Given the description of an element on the screen output the (x, y) to click on. 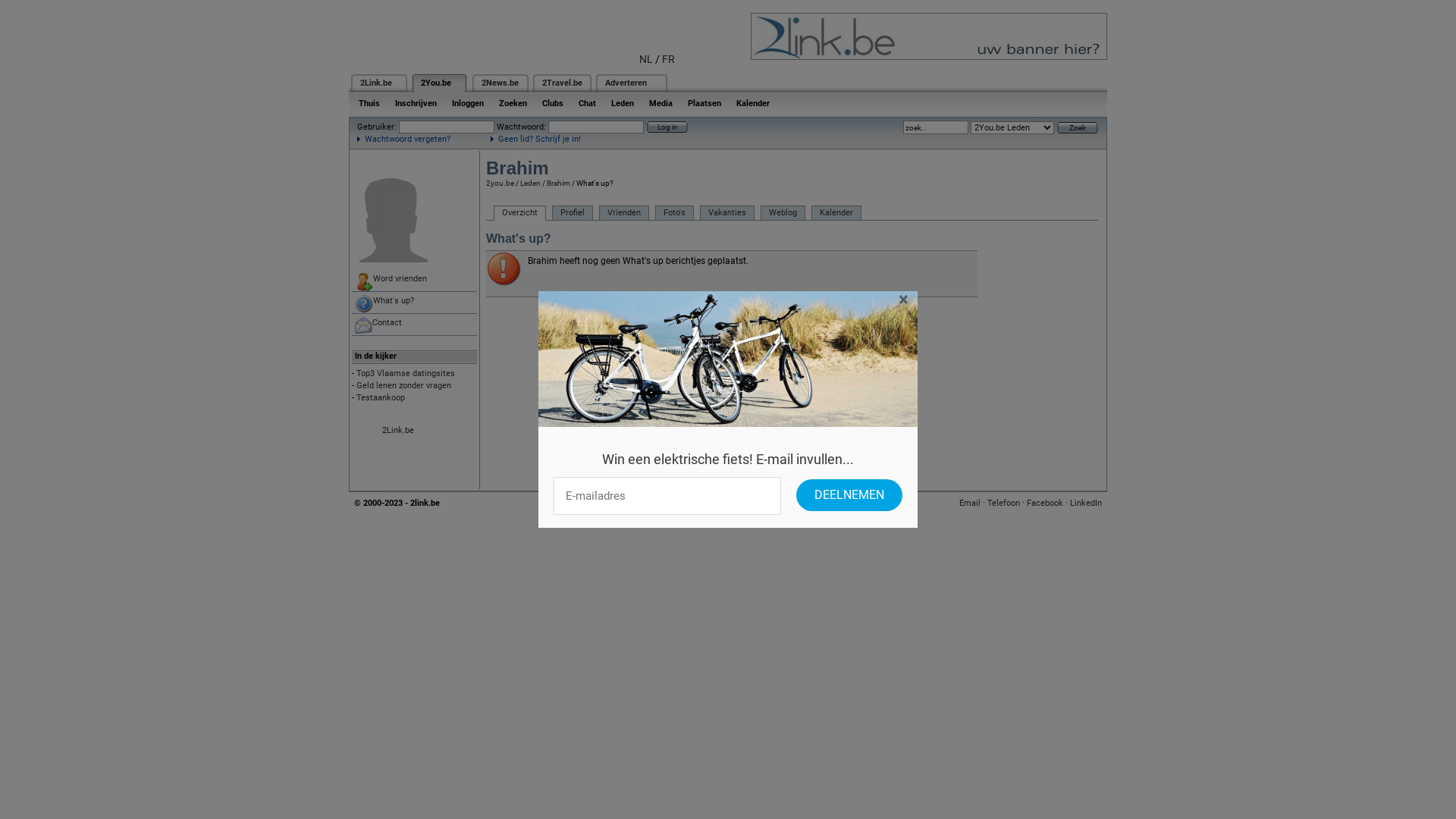
FR Element type: text (668, 59)
LinkedIn Element type: text (1085, 503)
Log in Element type: text (666, 126)
Leden Element type: text (530, 182)
Wachtwoord vergeten? Element type: text (403, 139)
2you.be Element type: text (500, 182)
2Link.be Element type: text (376, 82)
Leden Element type: text (622, 103)
Brahim Element type: text (558, 182)
Overzicht Element type: text (519, 212)
Chat Element type: text (587, 103)
Telefoon Element type: text (1003, 503)
Facebook Element type: text (1044, 503)
Thuis Element type: text (369, 103)
Profiel Element type: text (572, 212)
Media Element type: text (660, 103)
Inloggen Element type: text (467, 103)
2Travel.be Element type: text (562, 82)
Word vrienden Element type: text (413, 280)
Zoeken Element type: text (512, 103)
What's up? Element type: text (413, 302)
2Link.be Element type: text (398, 430)
Top3 Vlaamse datingsites Element type: text (405, 373)
Geen lid? Schrijf je in! Element type: text (535, 139)
Clubs Element type: text (552, 103)
Weblog Element type: text (782, 212)
Testaankoop Element type: text (380, 397)
Email Element type: text (969, 503)
Foto's Element type: text (674, 212)
Kalender Element type: text (752, 103)
Adverteren Element type: text (625, 82)
Contact Element type: text (413, 324)
Kalender Element type: text (836, 212)
Vrienden Element type: text (624, 212)
2You.be Element type: text (435, 82)
NL Element type: text (645, 59)
Zoek Element type: text (1077, 126)
2News.be Element type: text (499, 82)
Geld lenen zonder vragen Element type: text (403, 385)
Plaatsen Element type: text (704, 103)
Vakanties Element type: text (726, 212)
Inschrijven Element type: text (415, 103)
